Given the description of an element on the screen output the (x, y) to click on. 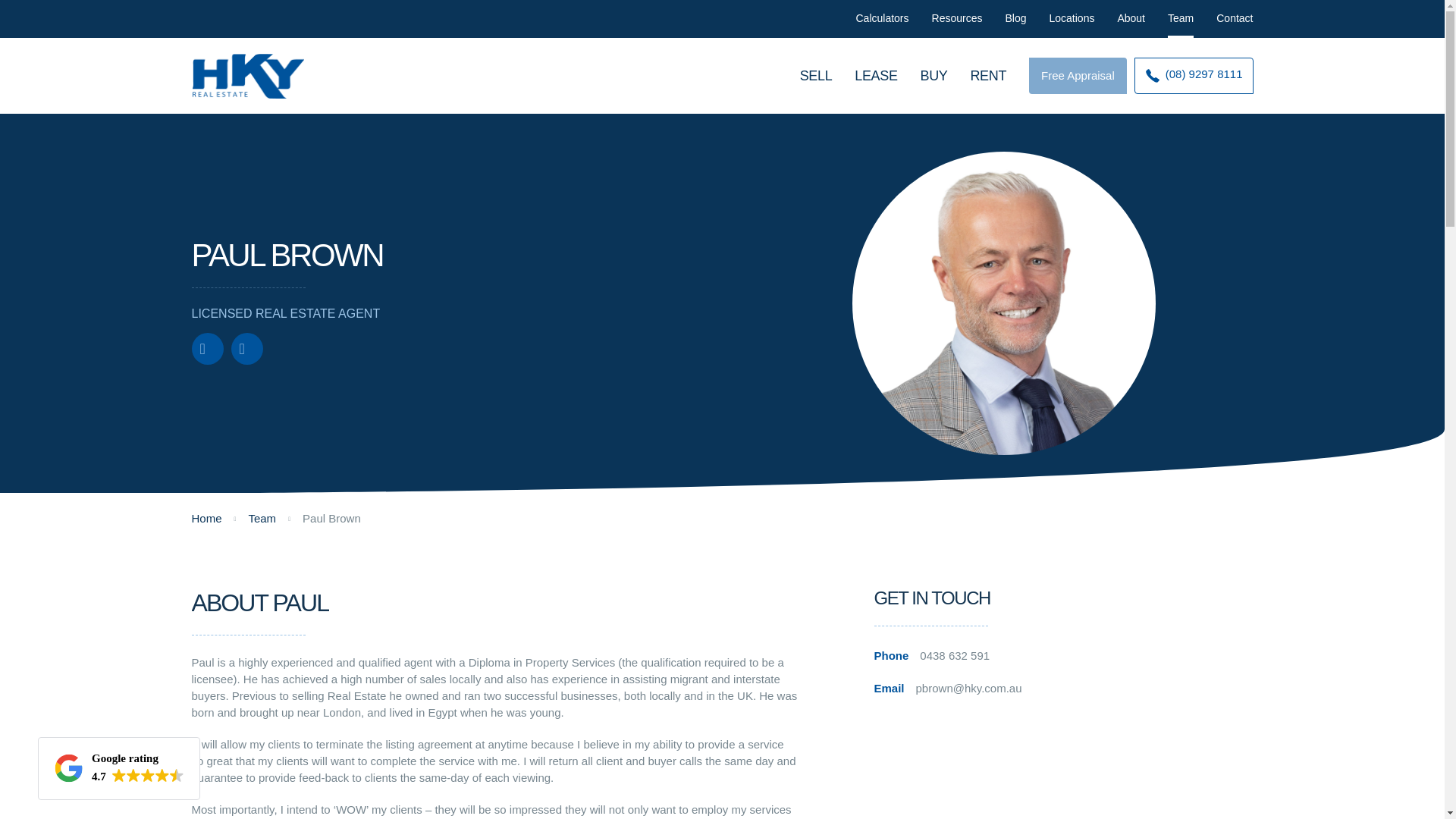
Team (1180, 18)
About (1130, 18)
HKY Real Estate (247, 75)
Blog (1014, 18)
Resources (957, 18)
Contact (1234, 18)
Locations (1070, 18)
Calculators (1077, 75)
